Given the description of an element on the screen output the (x, y) to click on. 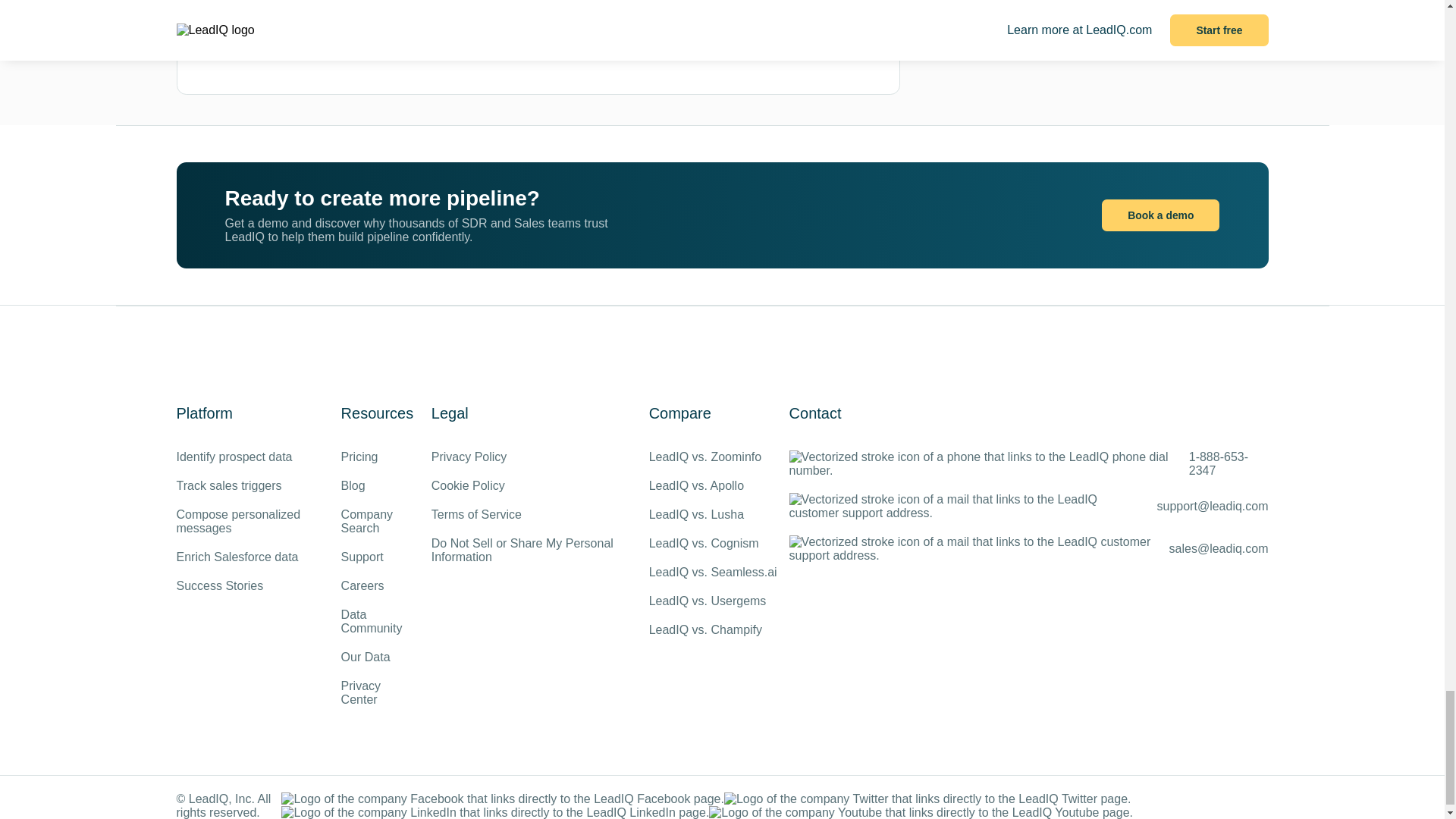
Find more Mass General Brigham email formats (635, 44)
